Given the description of an element on the screen output the (x, y) to click on. 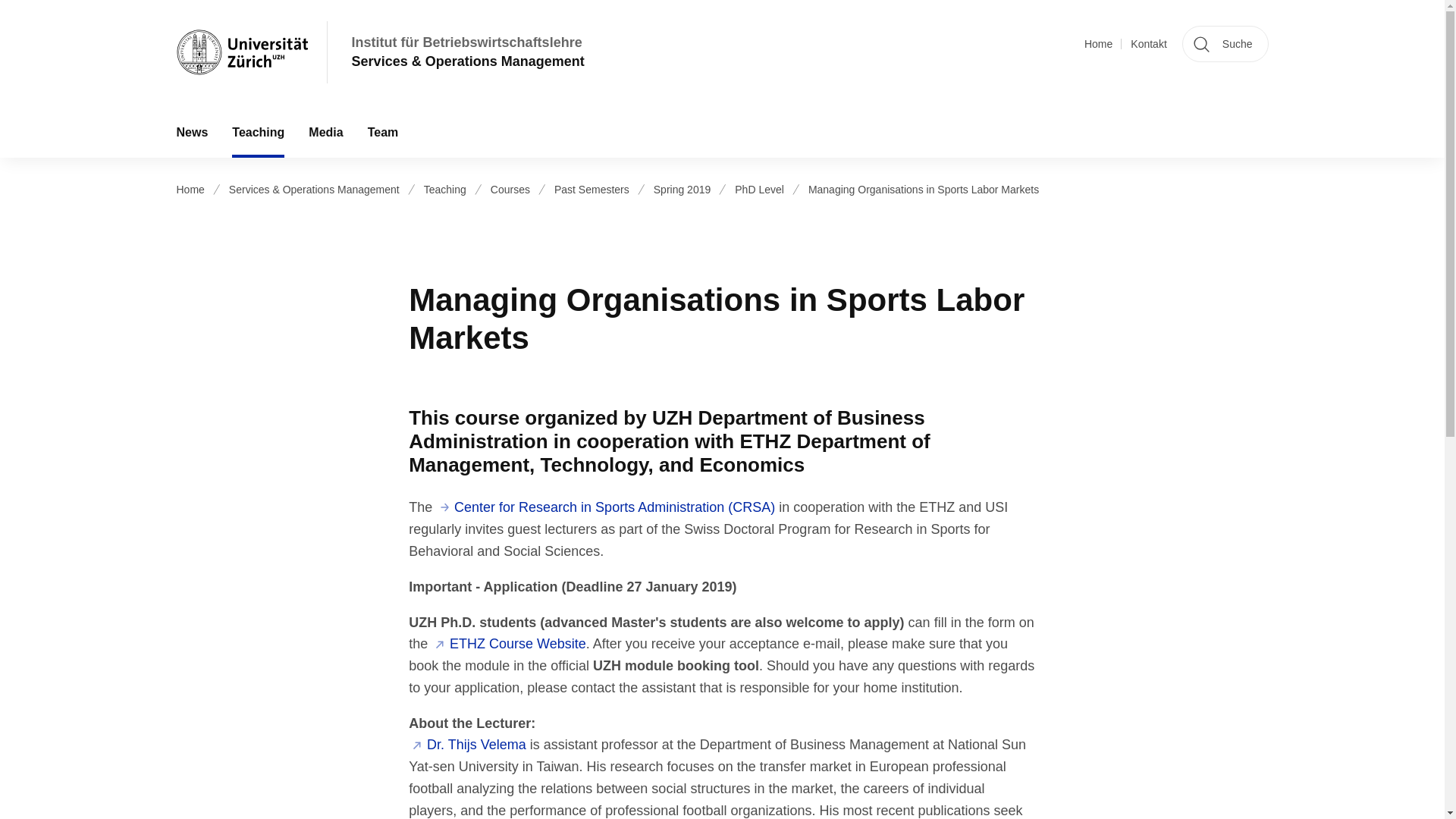
Kontakt (1148, 44)
Suche (1225, 43)
Home (1098, 44)
Media (326, 132)
News (191, 132)
Teaching (258, 132)
Team (382, 132)
